Given the description of an element on the screen output the (x, y) to click on. 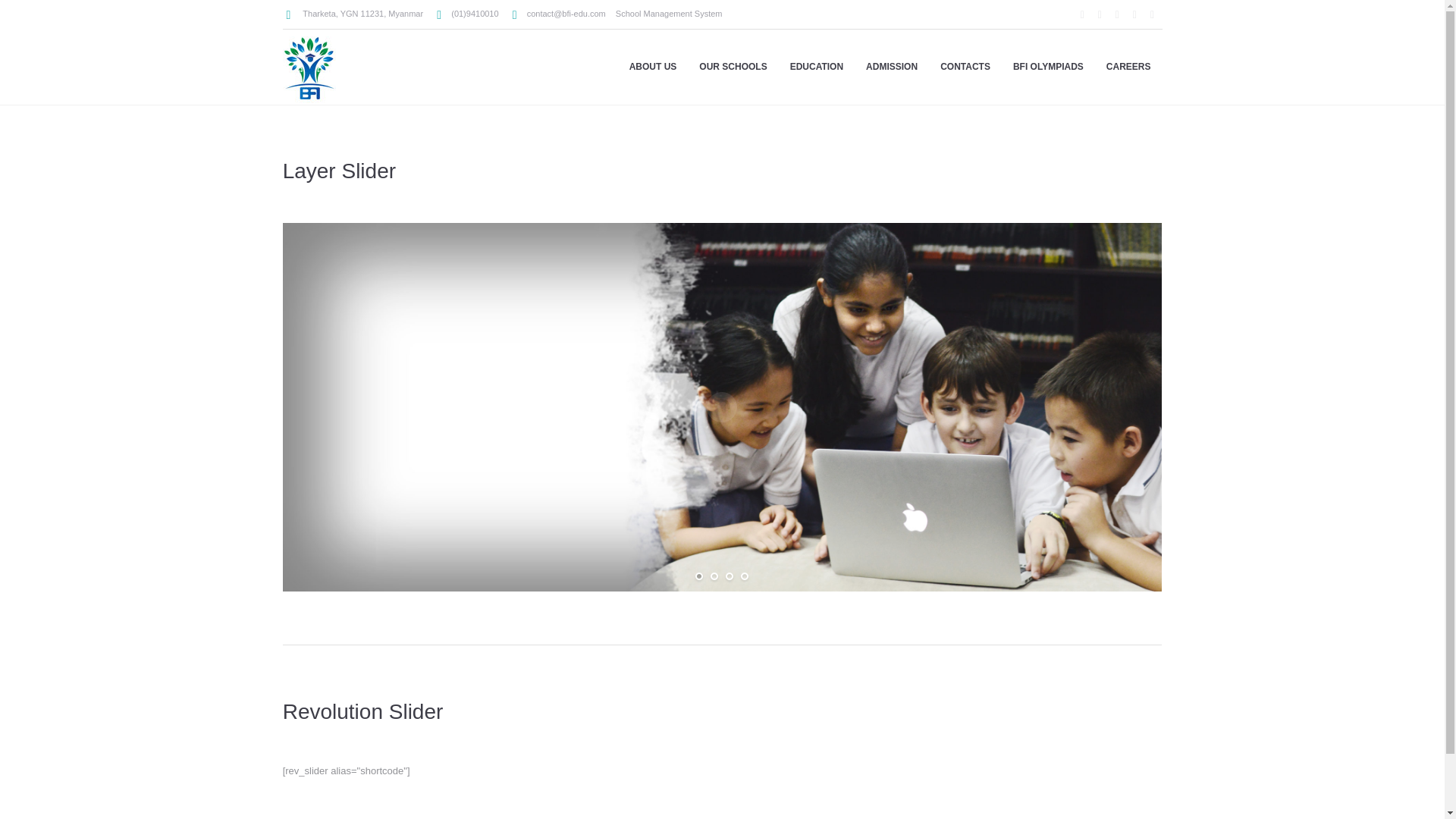
Facebook (1099, 14)
Linkedin (1081, 14)
Google (1116, 14)
CONTACTS (964, 66)
ABOUT US (652, 66)
School Management System (668, 13)
OUR SCHOOLS (732, 66)
ADMISSION (891, 66)
EDUCATION (816, 66)
Skype (1151, 14)
